Given the description of an element on the screen output the (x, y) to click on. 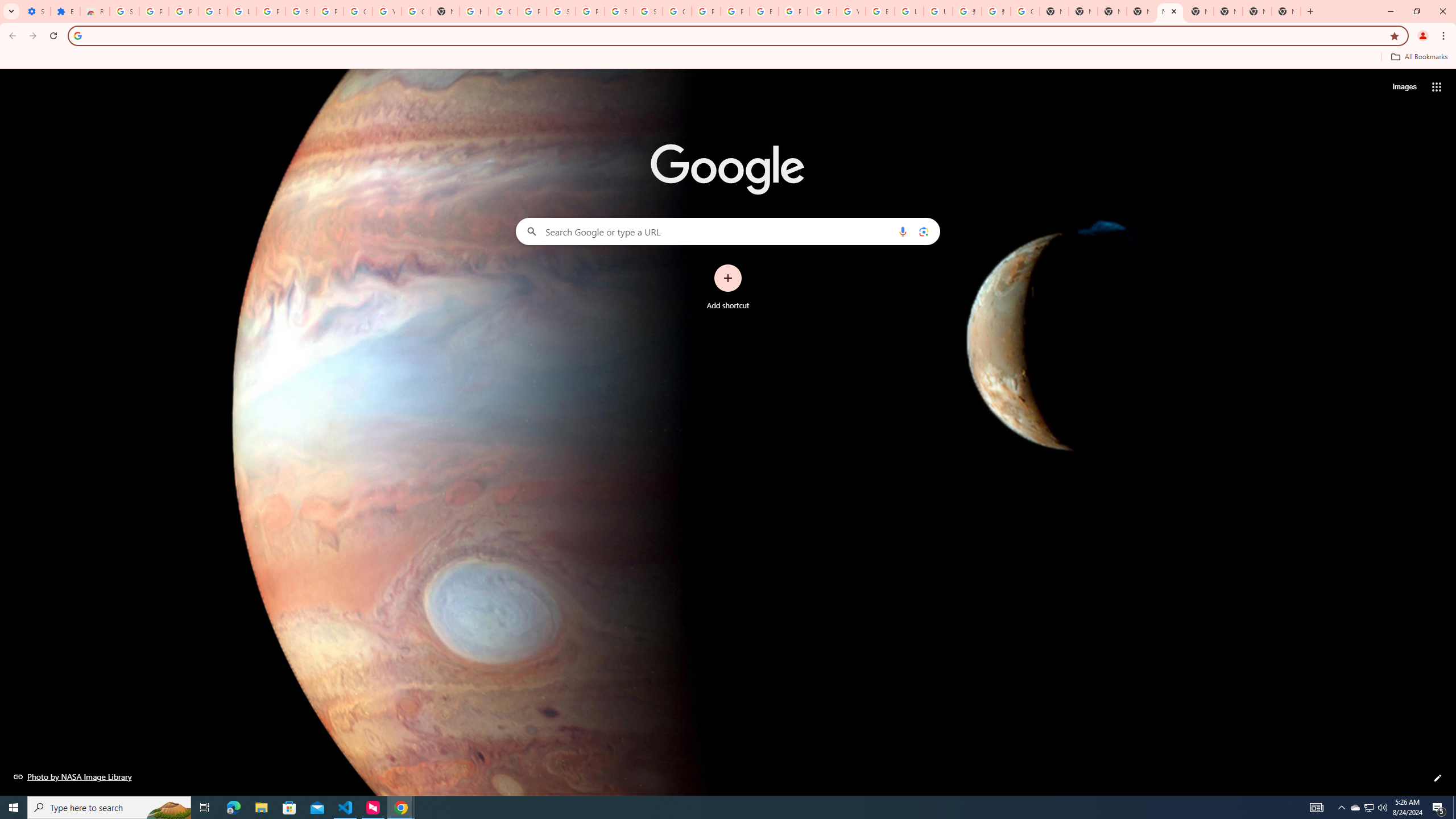
Photo by NASA Image Library (72, 776)
Google Account (357, 11)
New Tab (1140, 11)
New Tab (1286, 11)
Settings - On startup (35, 11)
Reviews: Helix Fruit Jump Arcade Game (95, 11)
Sign in - Google Accounts (648, 11)
Sign in - Google Accounts (124, 11)
